Given the description of an element on the screen output the (x, y) to click on. 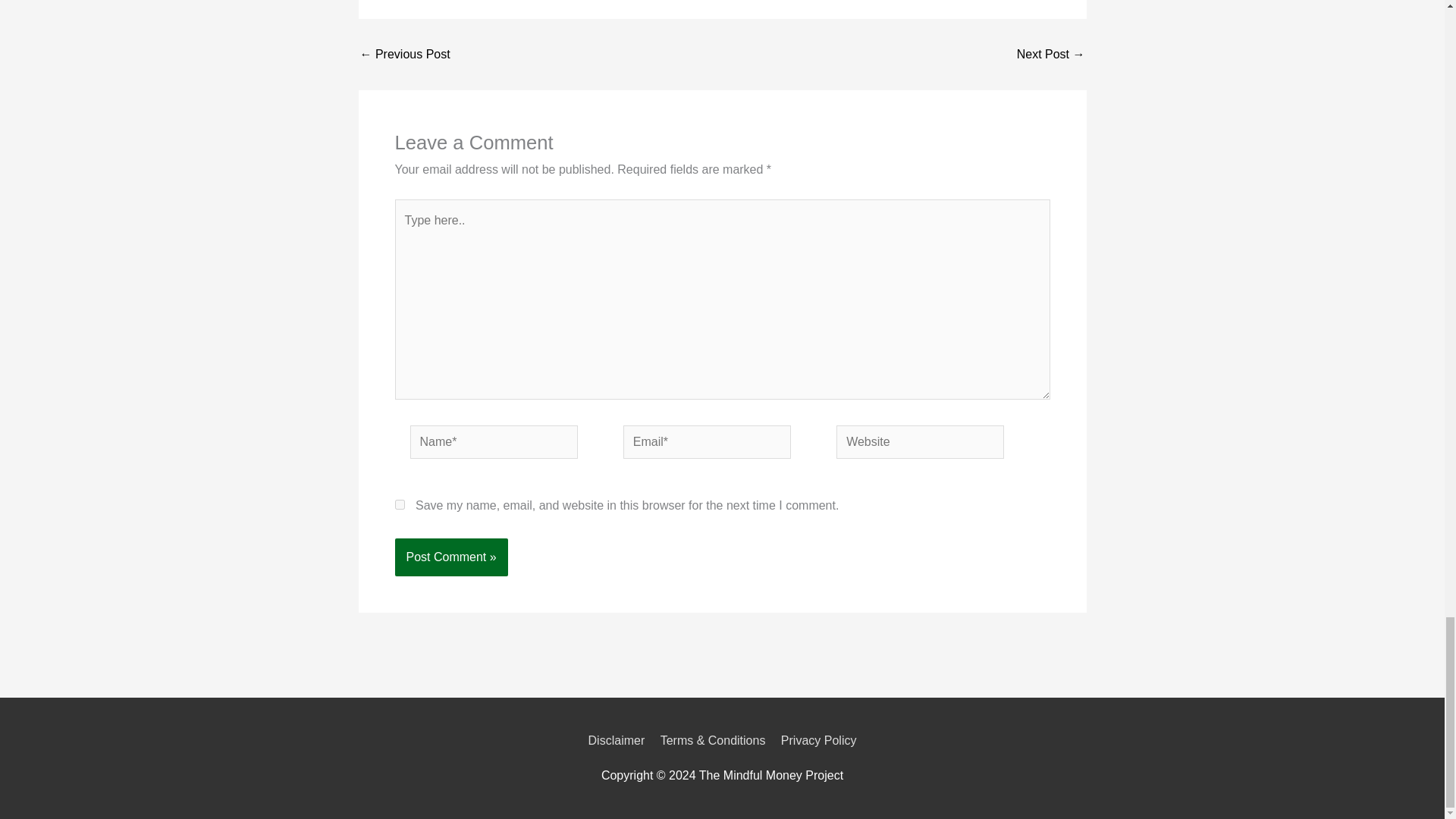
yes (399, 504)
How To Cancel Noom UK (404, 54)
How To Cancel Laithwaites Wine Plan UK (1050, 54)
